Given the description of an element on the screen output the (x, y) to click on. 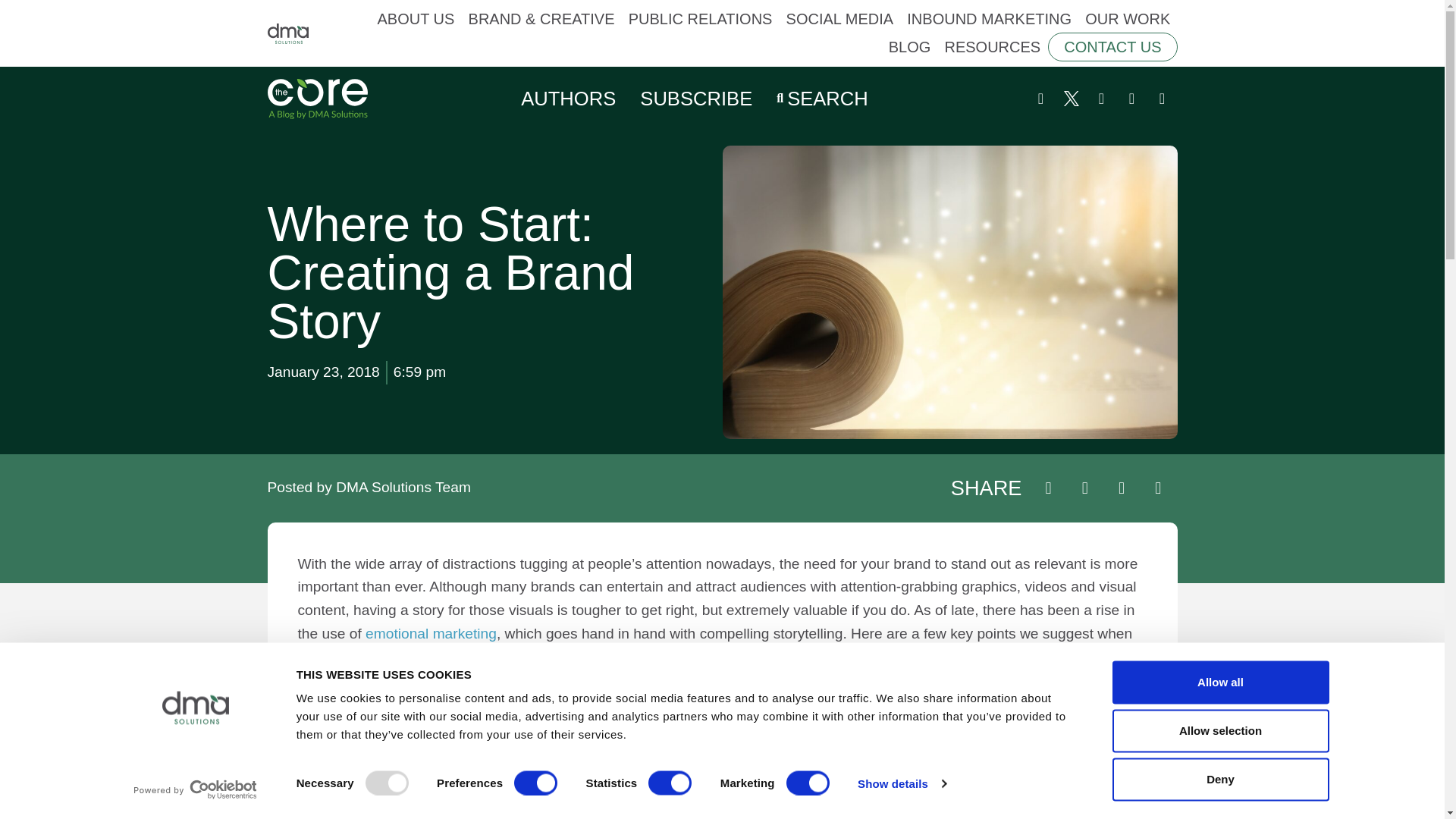
Show details (900, 783)
